Given the description of an element on the screen output the (x, y) to click on. 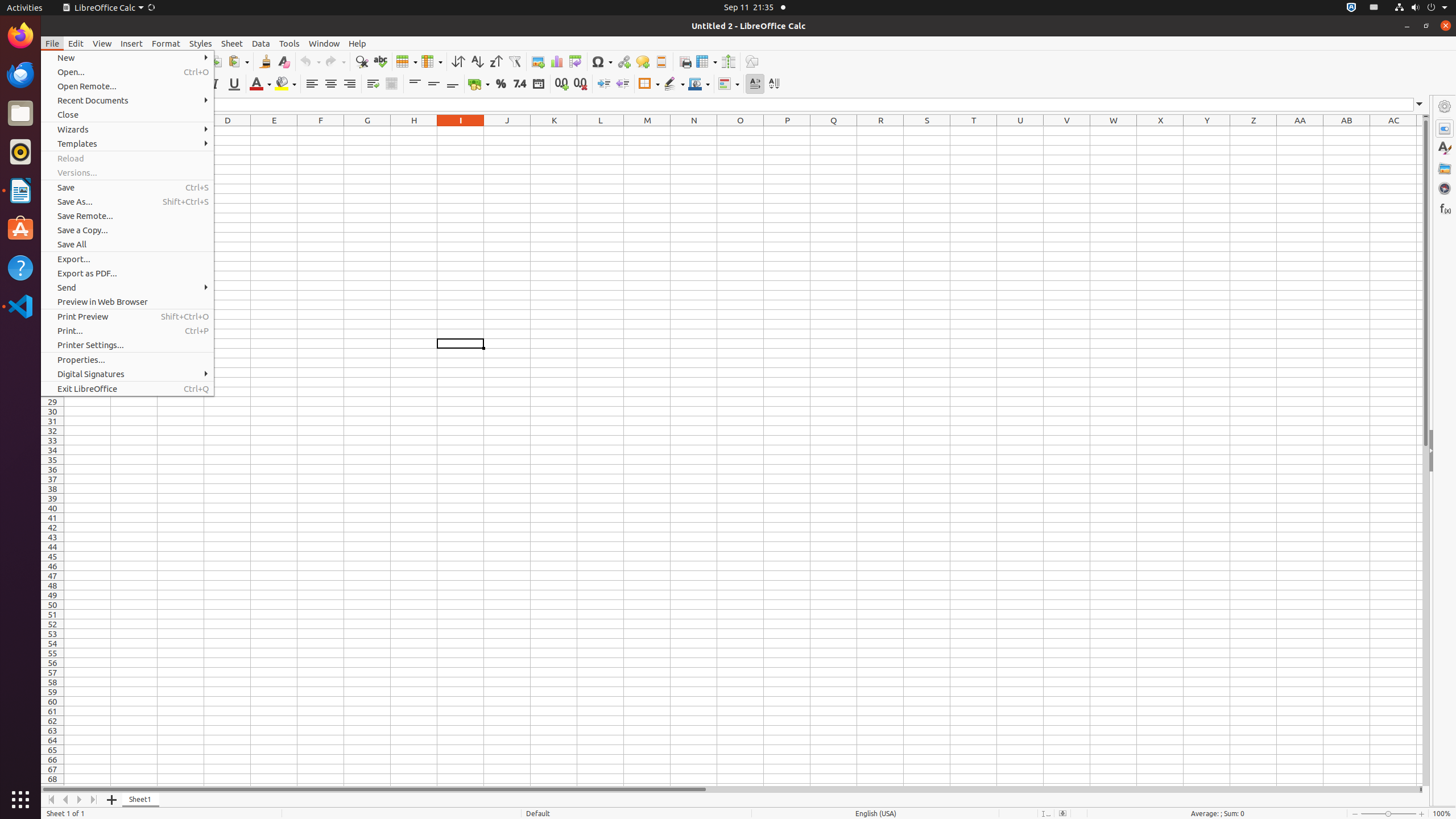
AutoFilter Element type: push-button (514, 61)
Q1 Element type: table-cell (833, 130)
Draw Functions Element type: toggle-button (751, 61)
Export... Element type: menu-item (126, 258)
Comment Element type: push-button (642, 61)
